Given the description of an element on the screen output the (x, y) to click on. 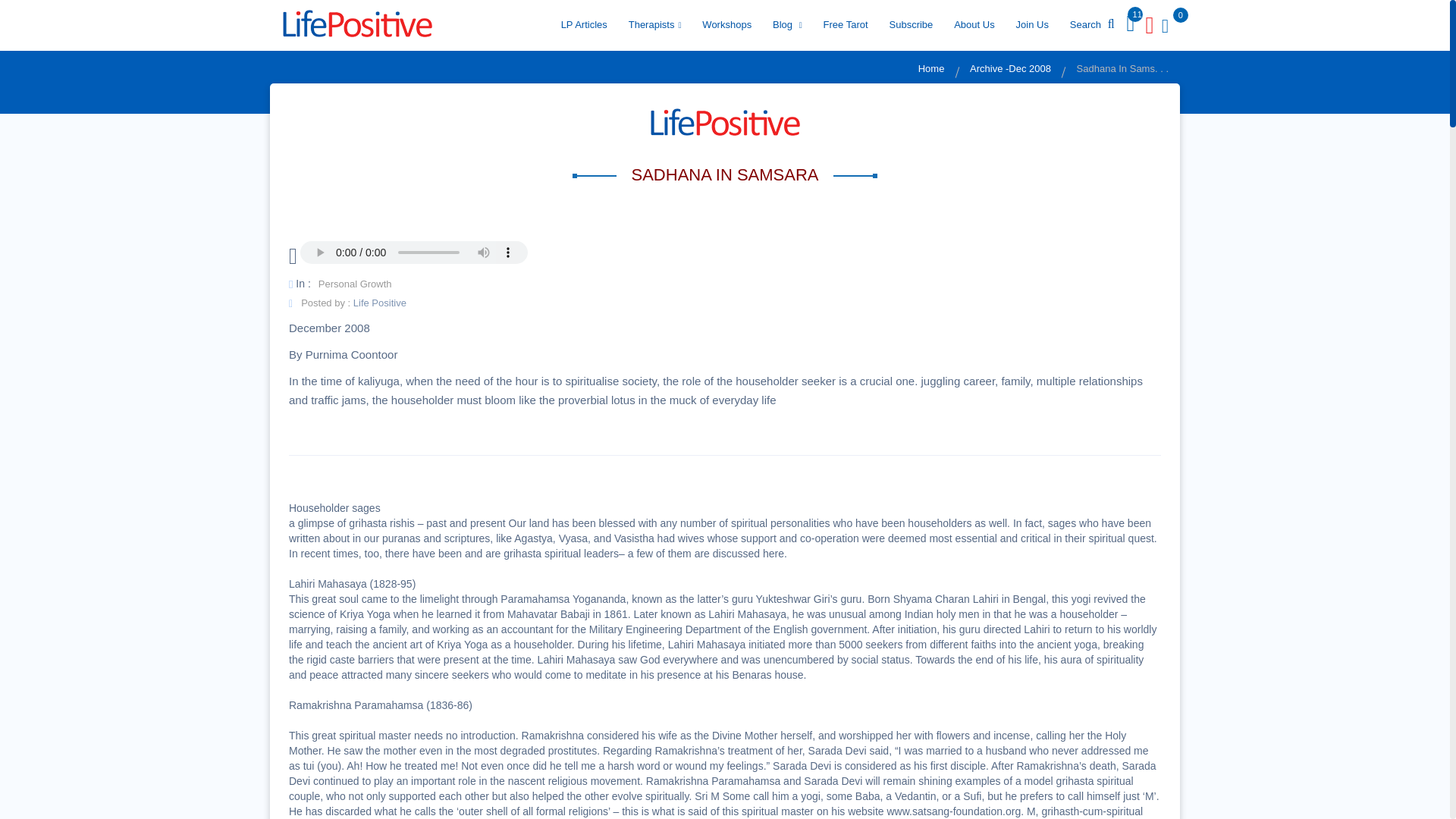
0 (1161, 25)
